Given the description of an element on the screen output the (x, y) to click on. 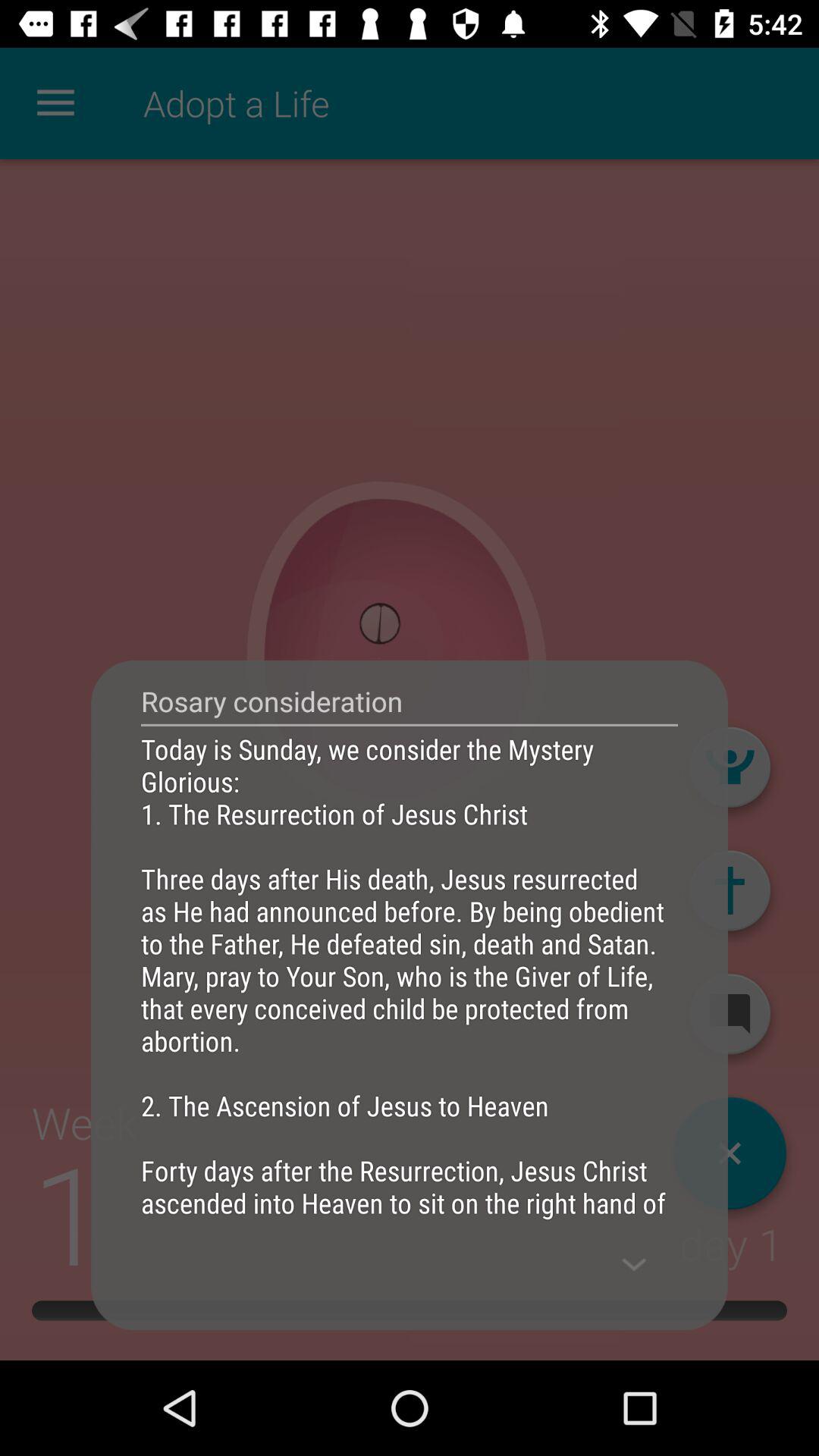
click today is sunday (409, 975)
